Given the description of an element on the screen output the (x, y) to click on. 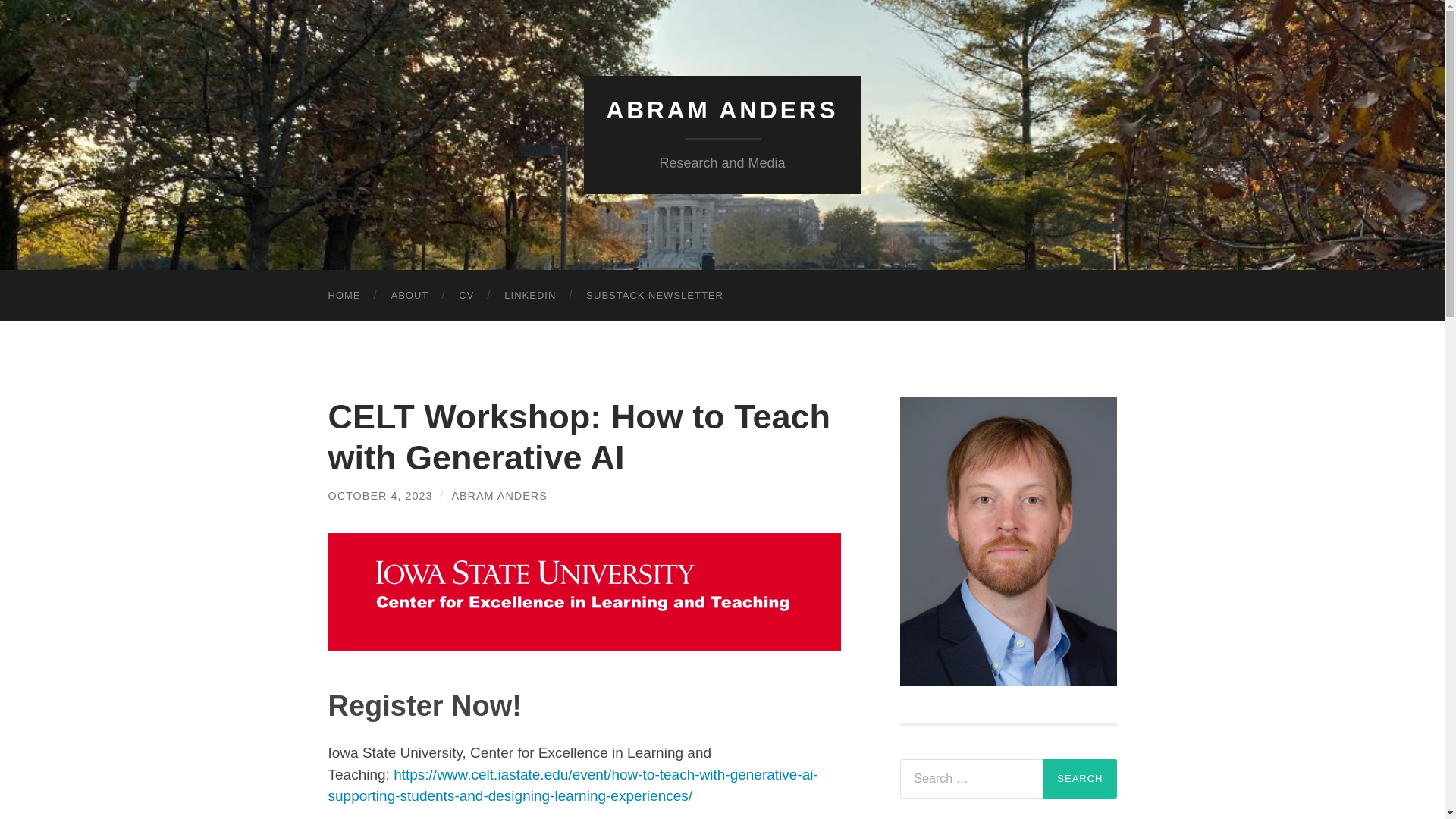
SUBSTACK NEWSLETTER (654, 295)
Search (1079, 777)
Posts by Abram Anders (499, 495)
Search (1079, 777)
LINKEDIN (529, 295)
OCTOBER 4, 2023 (379, 495)
CV (466, 295)
ABRAM ANDERS (499, 495)
ABOUT (409, 295)
HOME (344, 295)
ABRAM ANDERS (722, 109)
Search (1079, 777)
